Given the description of an element on the screen output the (x, y) to click on. 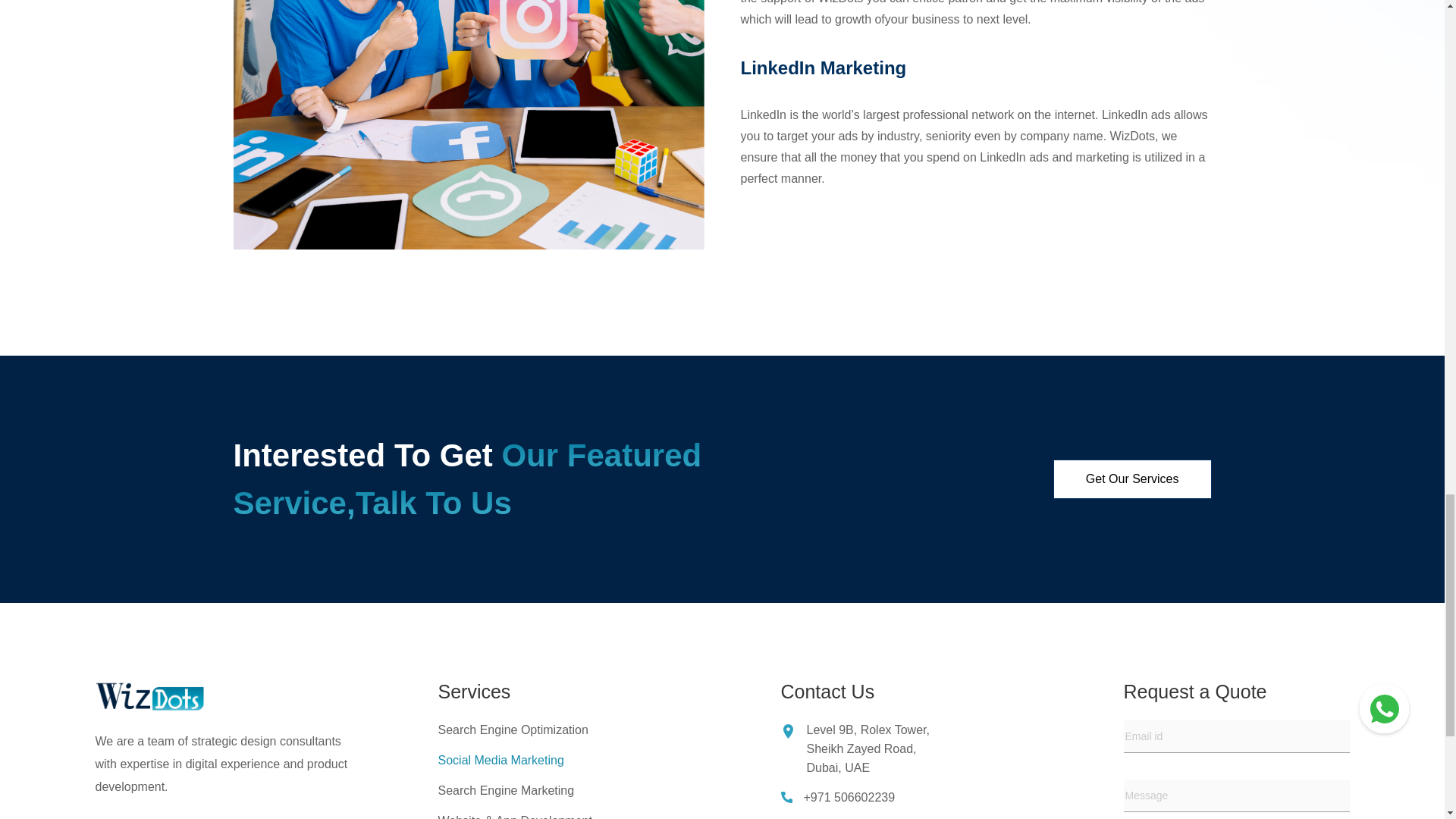
Get Our Services (1132, 478)
Search Engine Marketing (506, 789)
Get Our Services (1132, 478)
Search Engine Optimization (513, 729)
Social Media Marketing (501, 759)
